Given the description of an element on the screen output the (x, y) to click on. 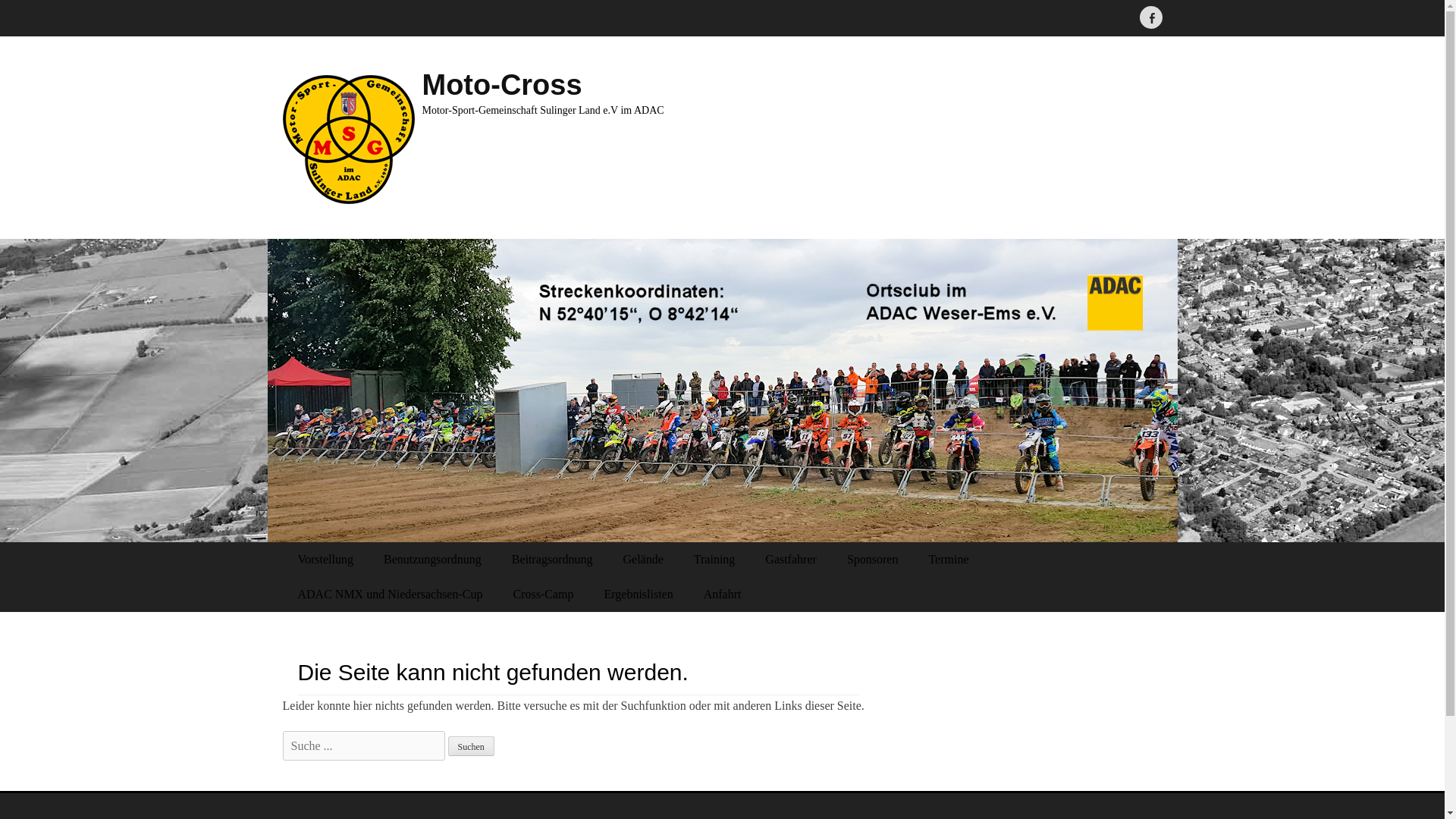
Termine (948, 559)
Moto-Cross (501, 84)
Gastfahrer (790, 559)
ADAC NMX und Niedersachsen-Cup (389, 594)
Suche nach: (363, 745)
Suchen (469, 745)
Facebook (1149, 16)
Suchen (469, 745)
Facebook (1149, 16)
Benutzungsordnung (432, 559)
Suchen (469, 745)
Sponsoren (872, 559)
Anfahrt (722, 594)
Cross-Camp (542, 594)
Ergebnislisten (637, 594)
